Given the description of an element on the screen output the (x, y) to click on. 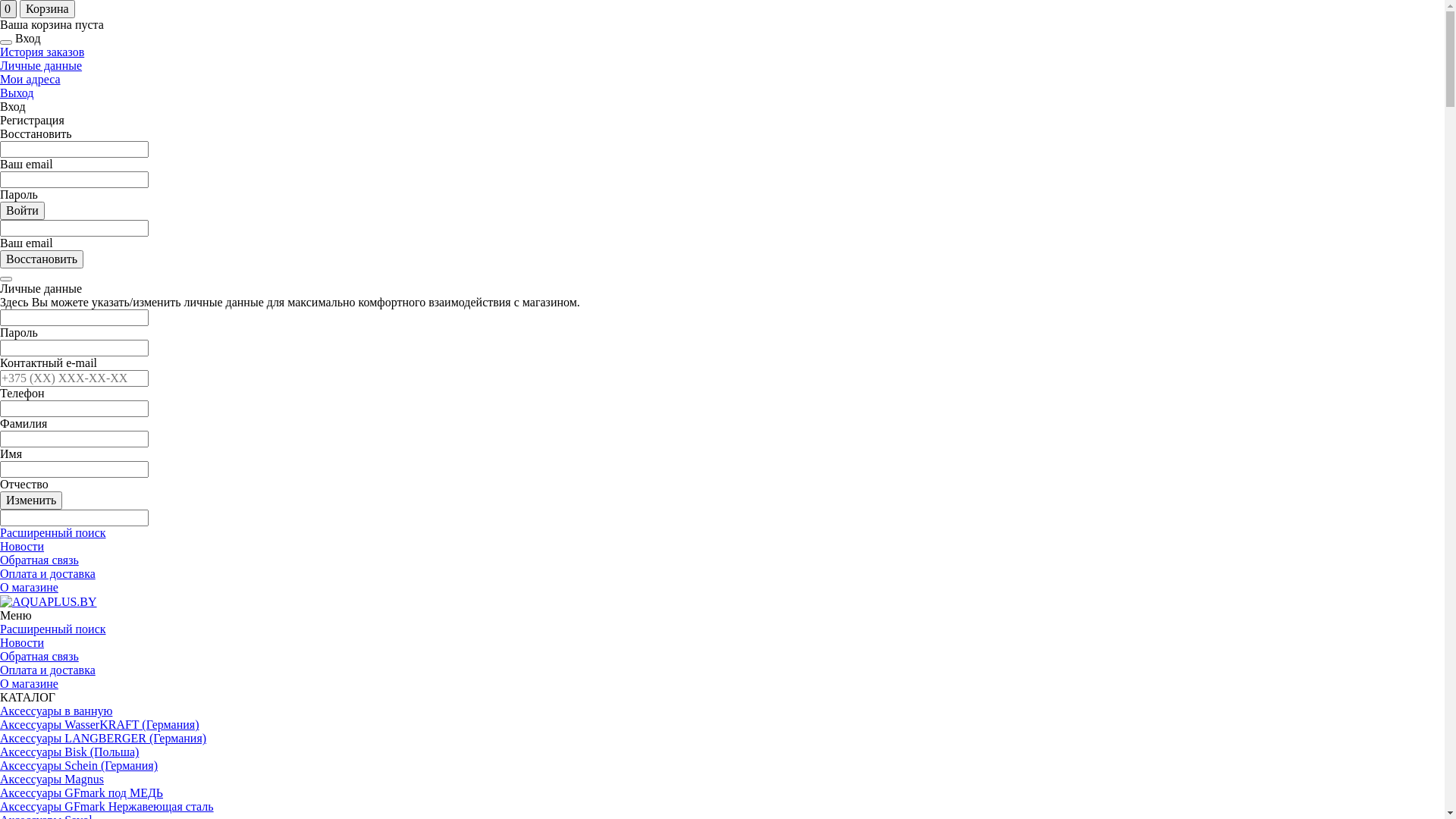
AQUAPLUS.BY Element type: hover (48, 601)
0 Element type: text (8, 9)
